Given the description of an element on the screen output the (x, y) to click on. 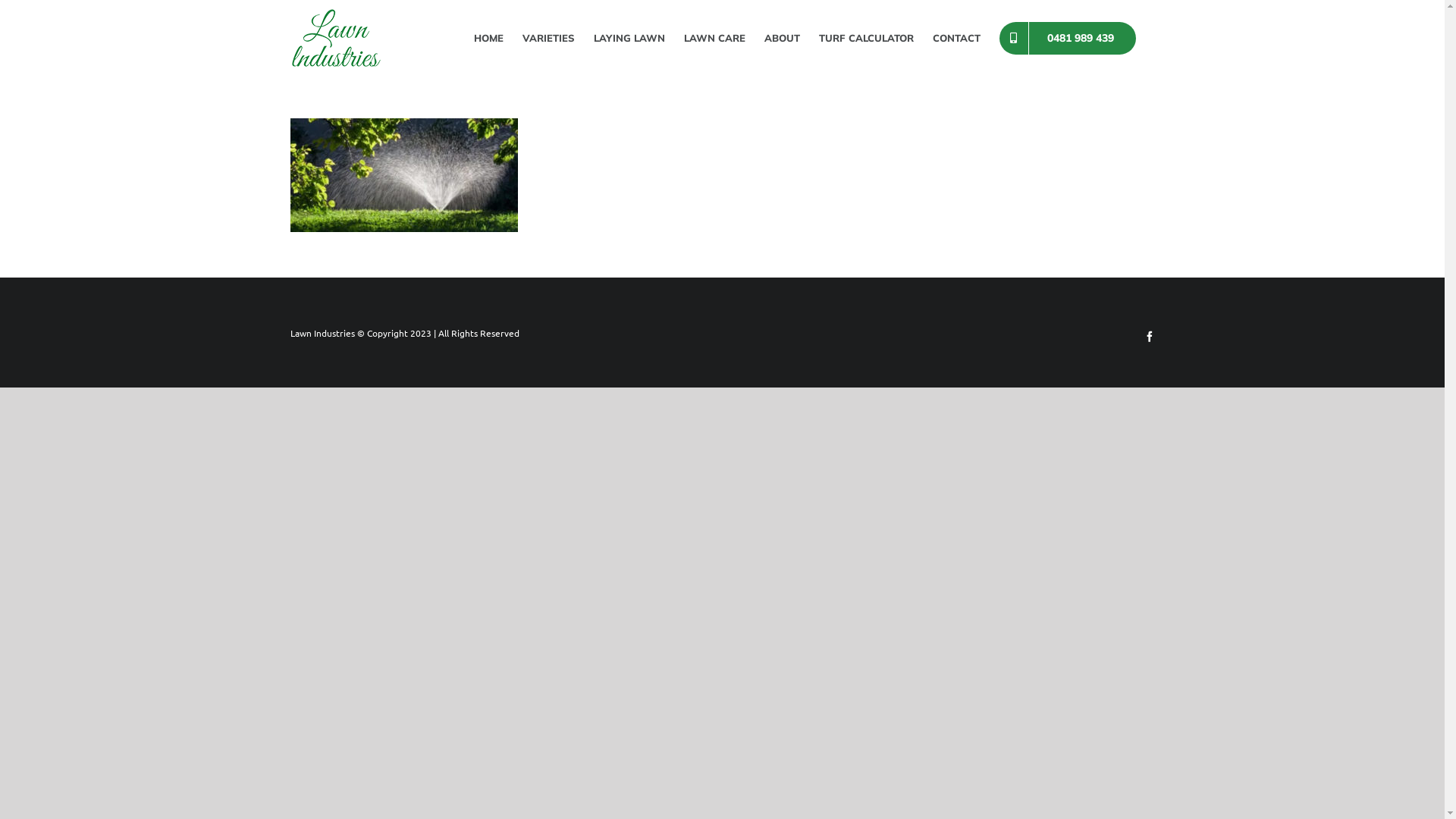
HOME Element type: text (487, 37)
LAWN CARE Element type: text (714, 37)
CONTACT Element type: text (956, 37)
TURF CALCULATOR Element type: text (866, 37)
0481 989 439 Element type: text (1067, 37)
ABOUT Element type: text (782, 37)
Facebook Element type: text (1148, 336)
LAYING LAWN Element type: text (628, 37)
VARIETIES Element type: text (547, 37)
